Given the description of an element on the screen output the (x, y) to click on. 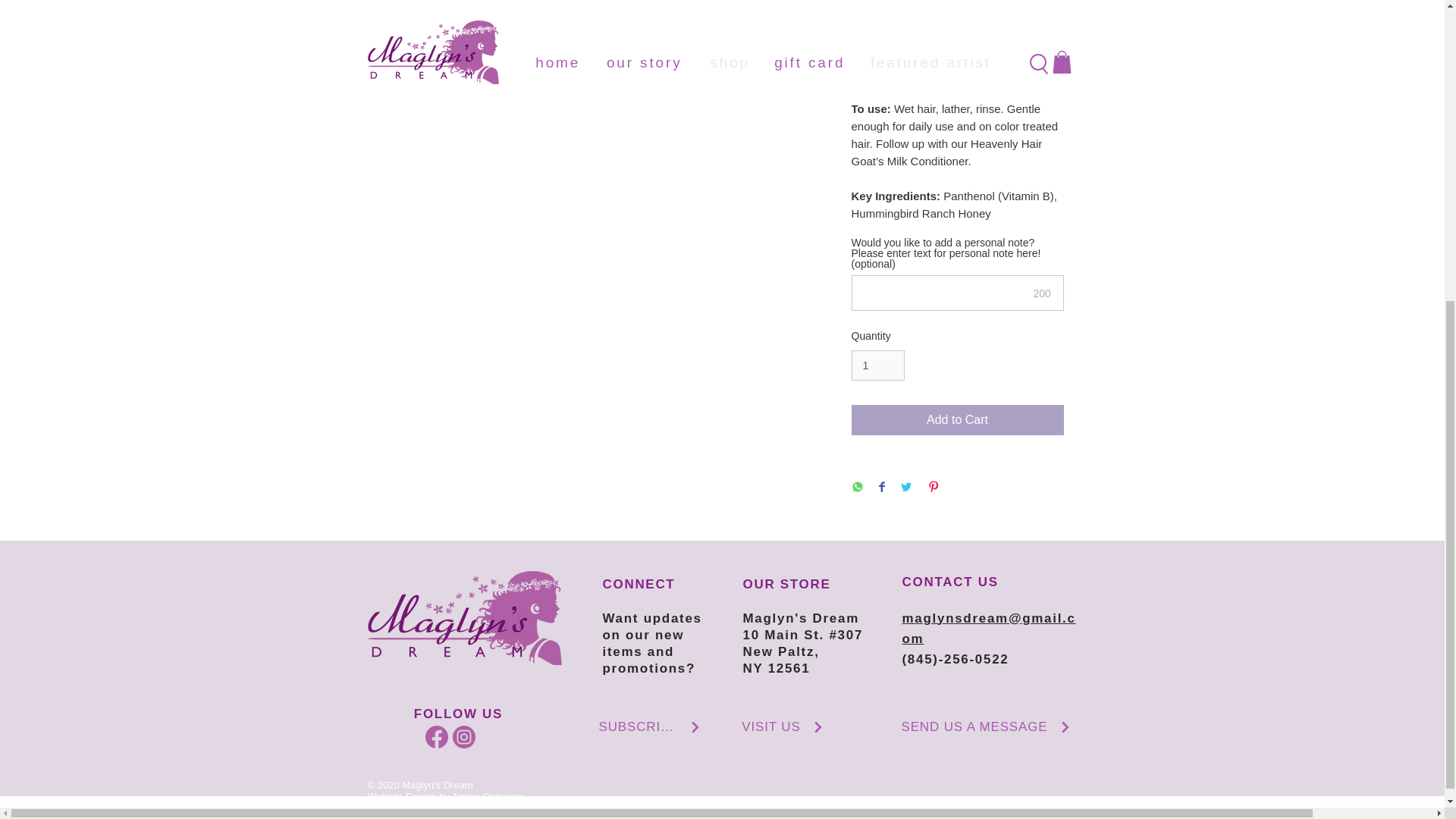
1 (877, 365)
Add to Cart (956, 419)
